Given the description of an element on the screen output the (x, y) to click on. 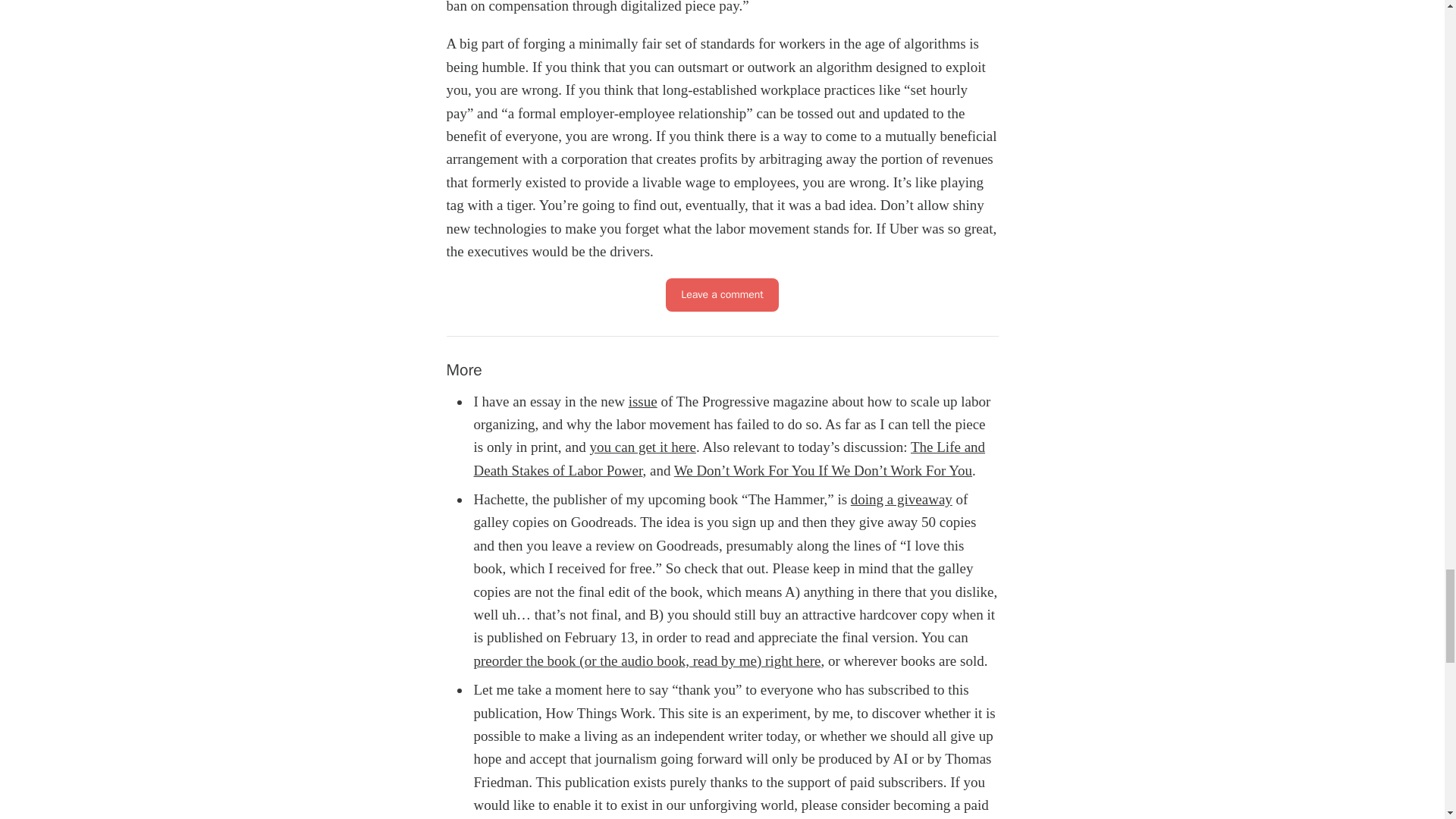
you can get it here (642, 446)
issue (643, 400)
Leave a comment (721, 295)
The Life and Death Stakes of Labor Power (729, 457)
